Given the description of an element on the screen output the (x, y) to click on. 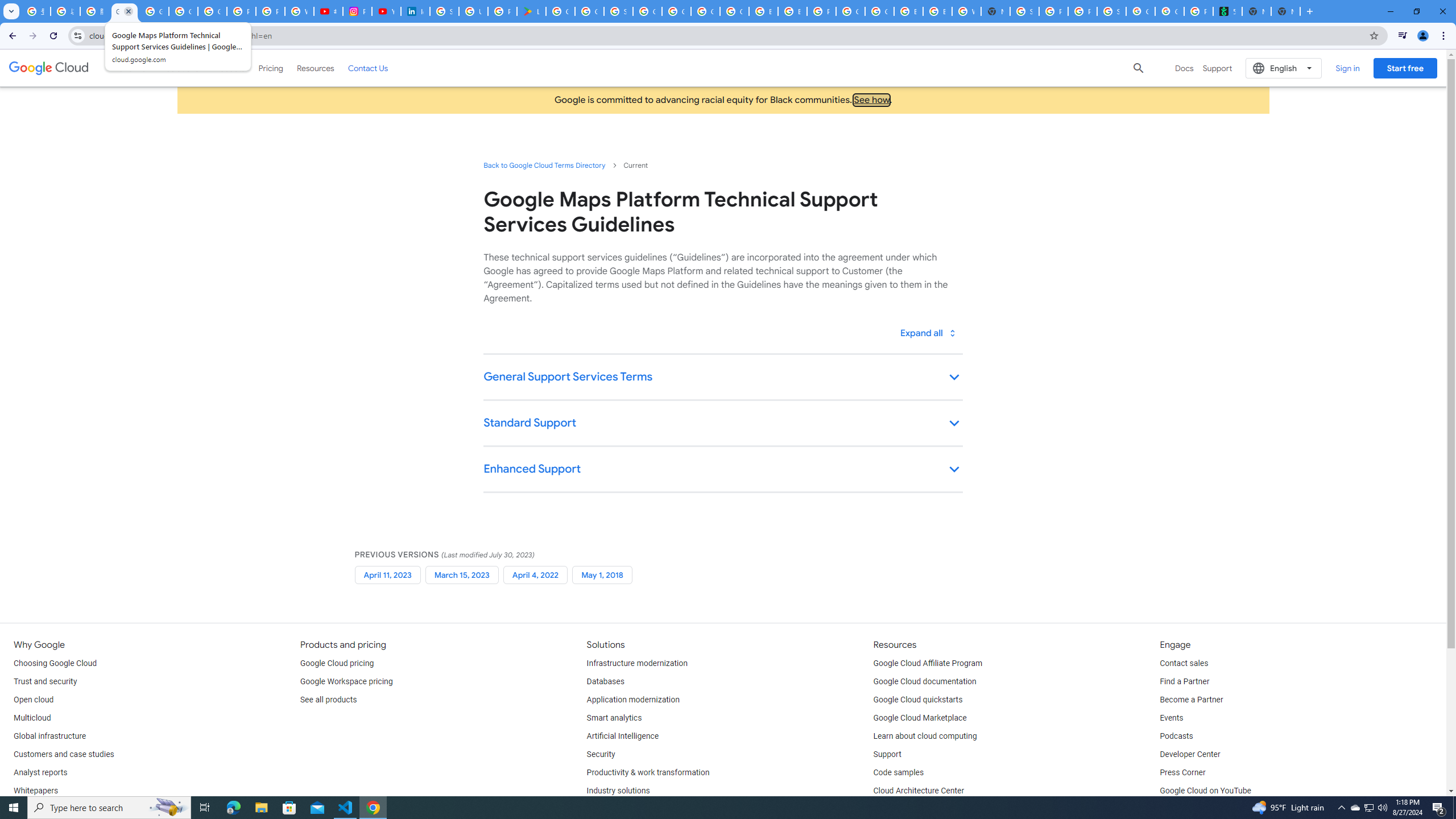
Become a Partner (1190, 700)
Customers and case studies (64, 754)
April 11, 2023 (386, 574)
Google Cloud Platform (850, 11)
Open cloud (33, 700)
Podcasts (1175, 736)
Google Cloud Affiliate Program (927, 663)
